Given the description of an element on the screen output the (x, y) to click on. 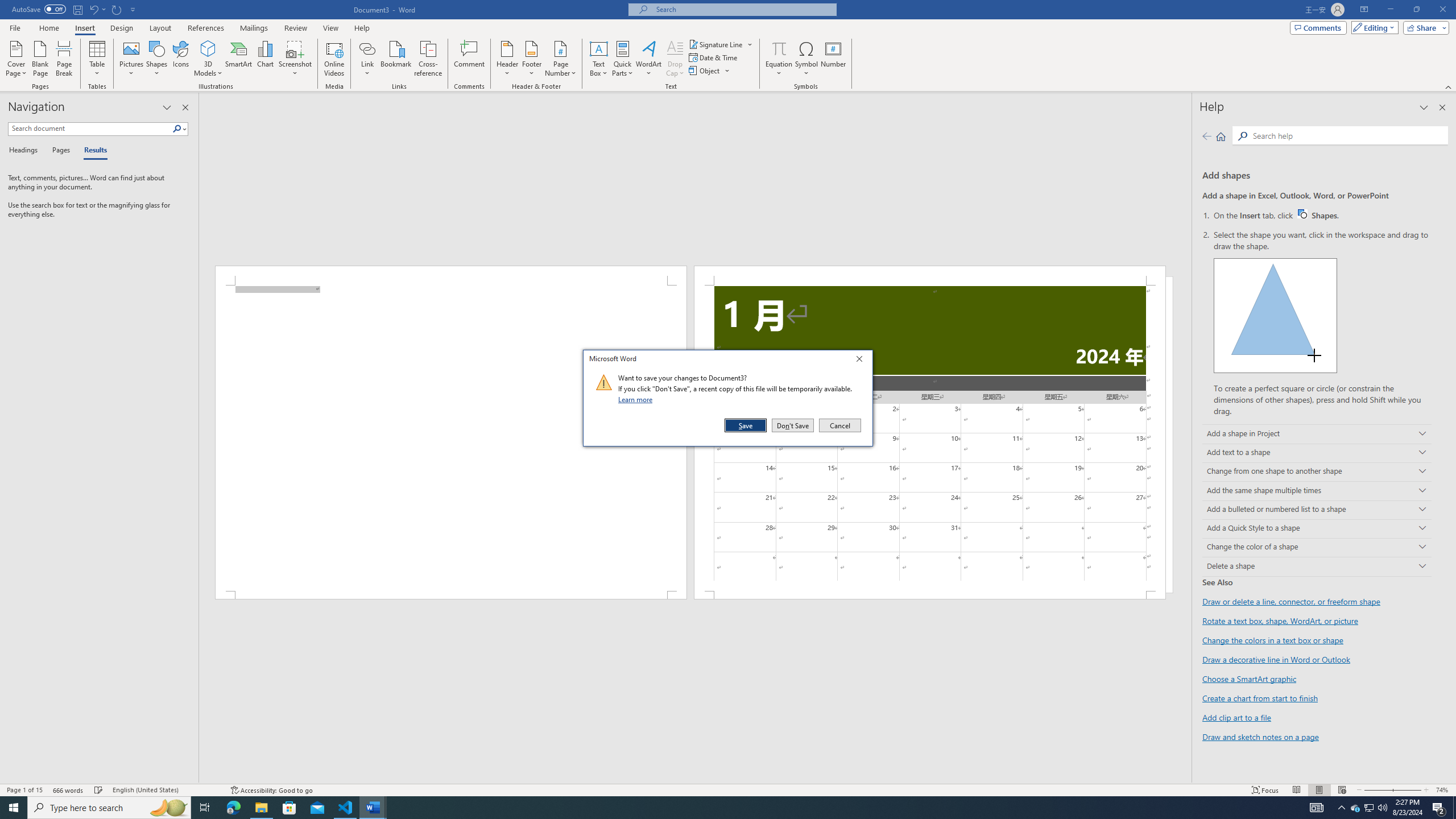
Running applications (717, 807)
Rotate a text box, shape, WordArt, or picture (1280, 620)
Comment (469, 58)
Date & Time... (714, 56)
Choose a SmartArt graphic (1248, 678)
Symbol (806, 58)
3D Models (208, 58)
Start (13, 807)
Microsoft search (742, 9)
Delete a shape (1316, 566)
